Given the description of an element on the screen output the (x, y) to click on. 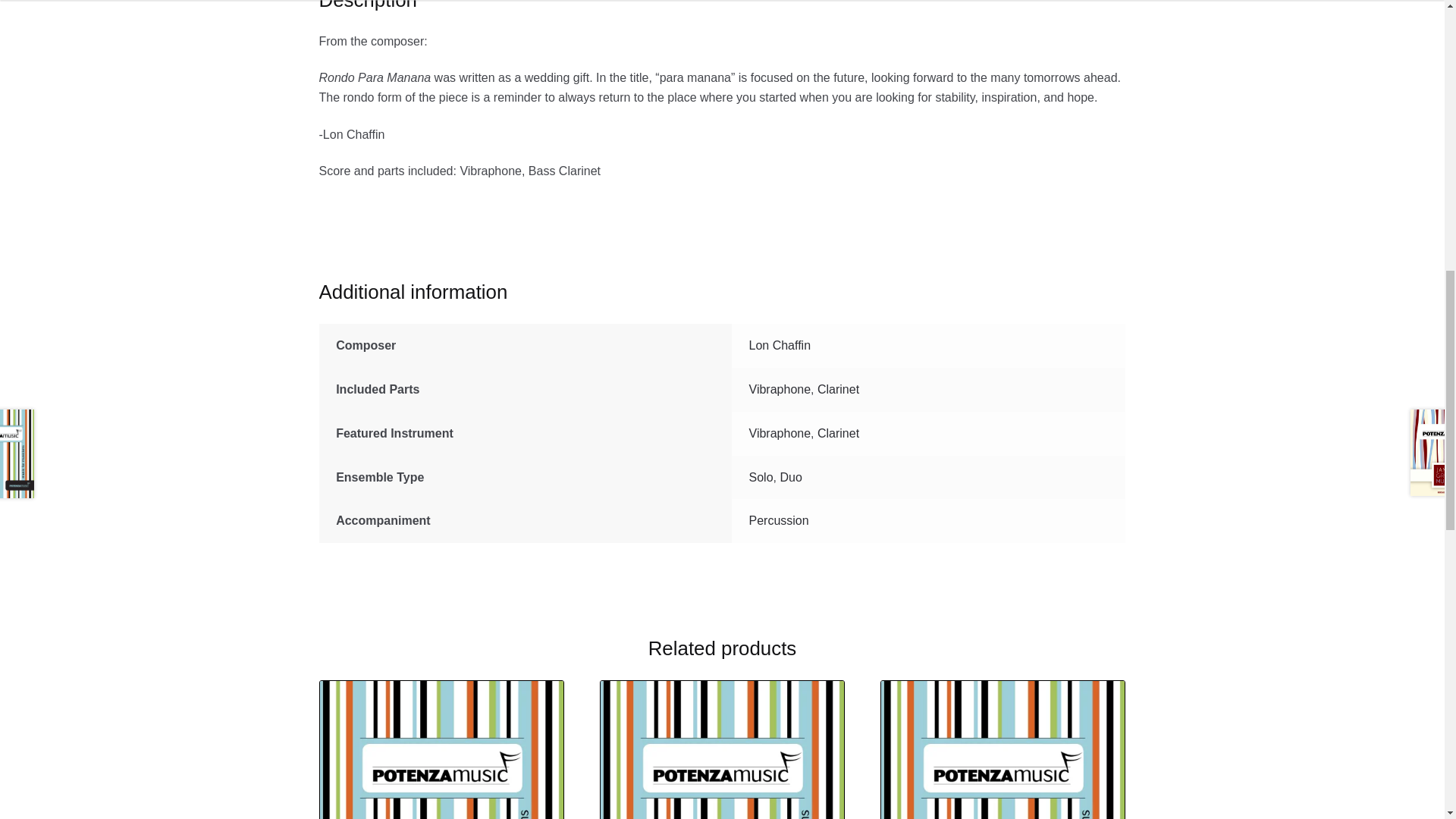
Lon Chaffin (779, 345)
Clarinet (837, 389)
Vibraphone (779, 432)
Vibraphone (779, 389)
Clarinet (837, 432)
